Given the description of an element on the screen output the (x, y) to click on. 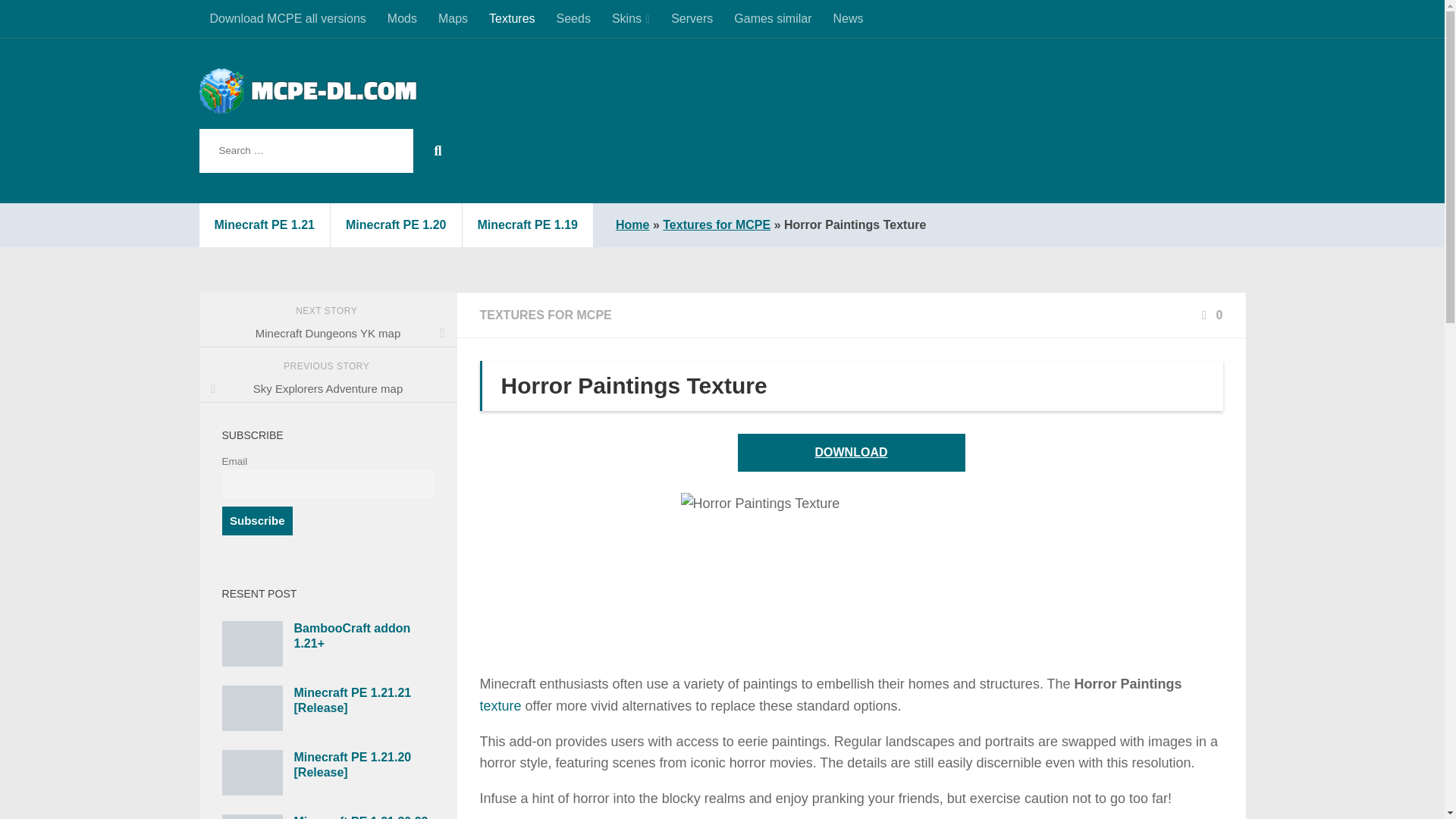
Skip to content (63, 20)
Minecraft PE 1.21 (264, 225)
Download MCPE all versions (286, 18)
DOWNLOAD (849, 452)
Maps (453, 18)
Search (434, 150)
Servers (692, 18)
Minecraft PE 1.20 (396, 225)
Subscribe (256, 520)
Skins (631, 18)
